Given the description of an element on the screen output the (x, y) to click on. 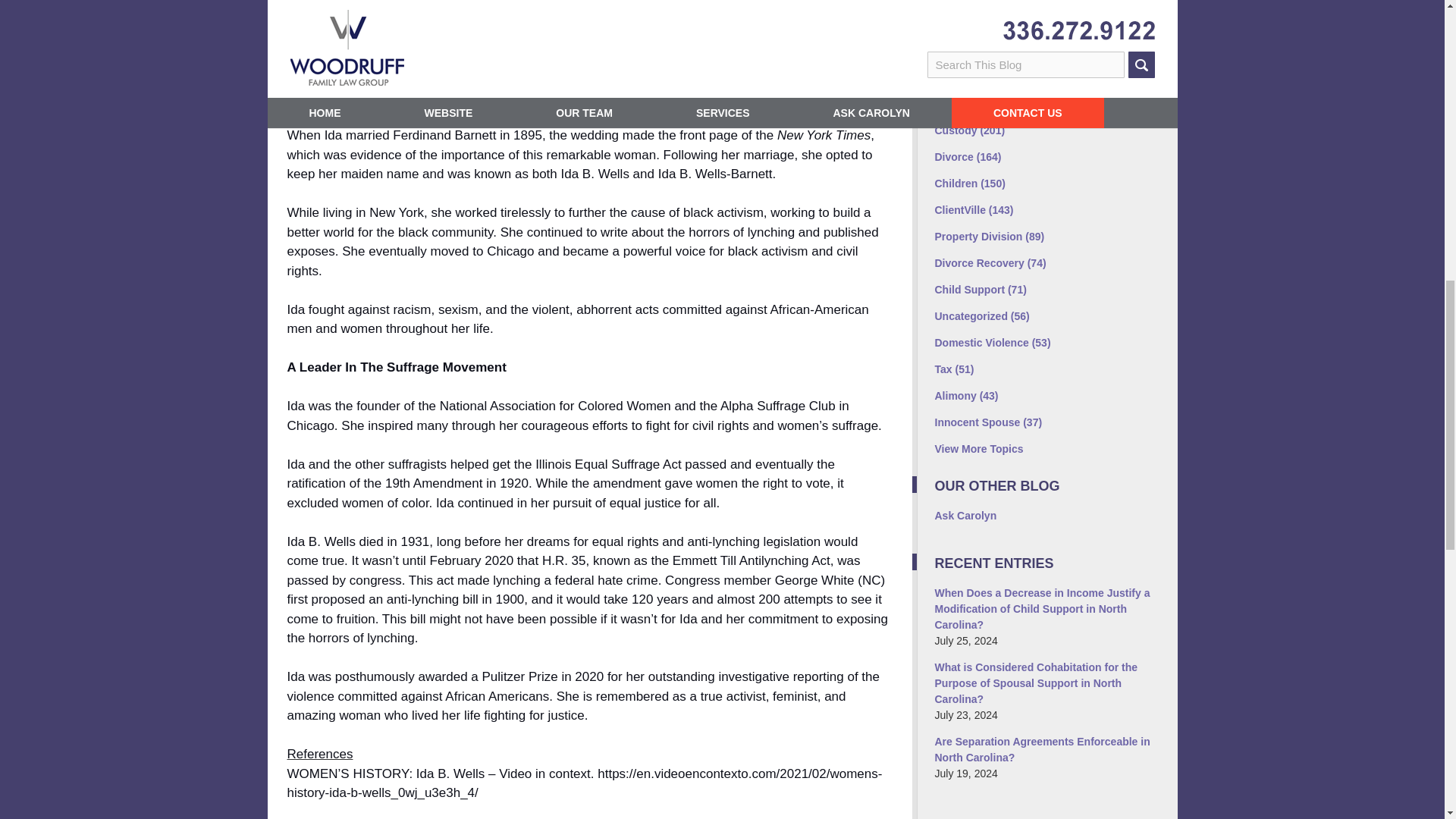
Twitter (981, 40)
Justia (1044, 40)
Facebook (949, 31)
Feed (1107, 40)
LinkedIn (1012, 40)
YouTube (1074, 40)
